Given the description of an element on the screen output the (x, y) to click on. 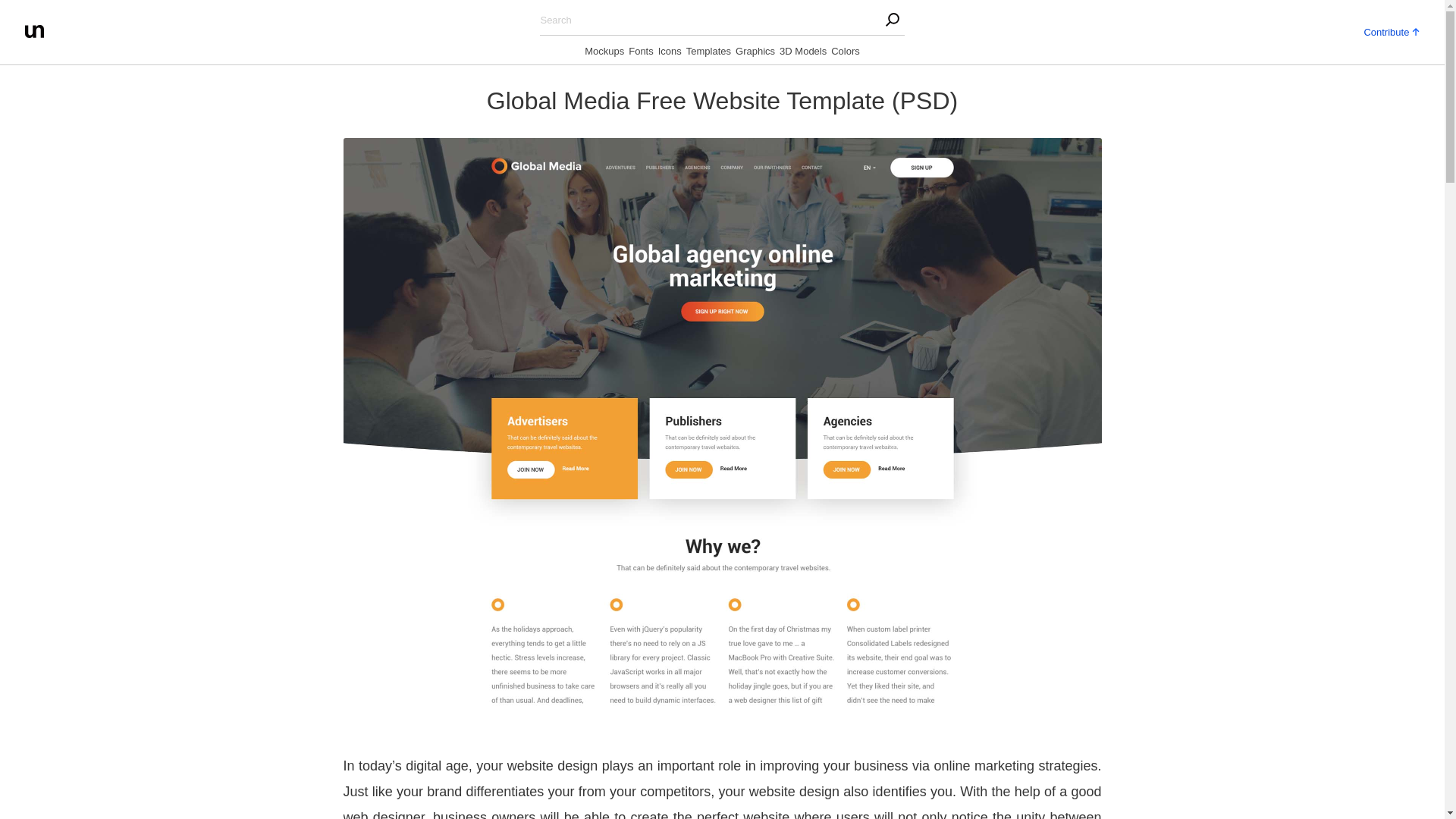
Templates (707, 53)
Icons (669, 53)
Search (303, 15)
Colors (845, 53)
Fonts (640, 53)
Graphics (754, 53)
Contribute (1390, 30)
Mockups (604, 53)
3D Models (802, 53)
